Given the description of an element on the screen output the (x, y) to click on. 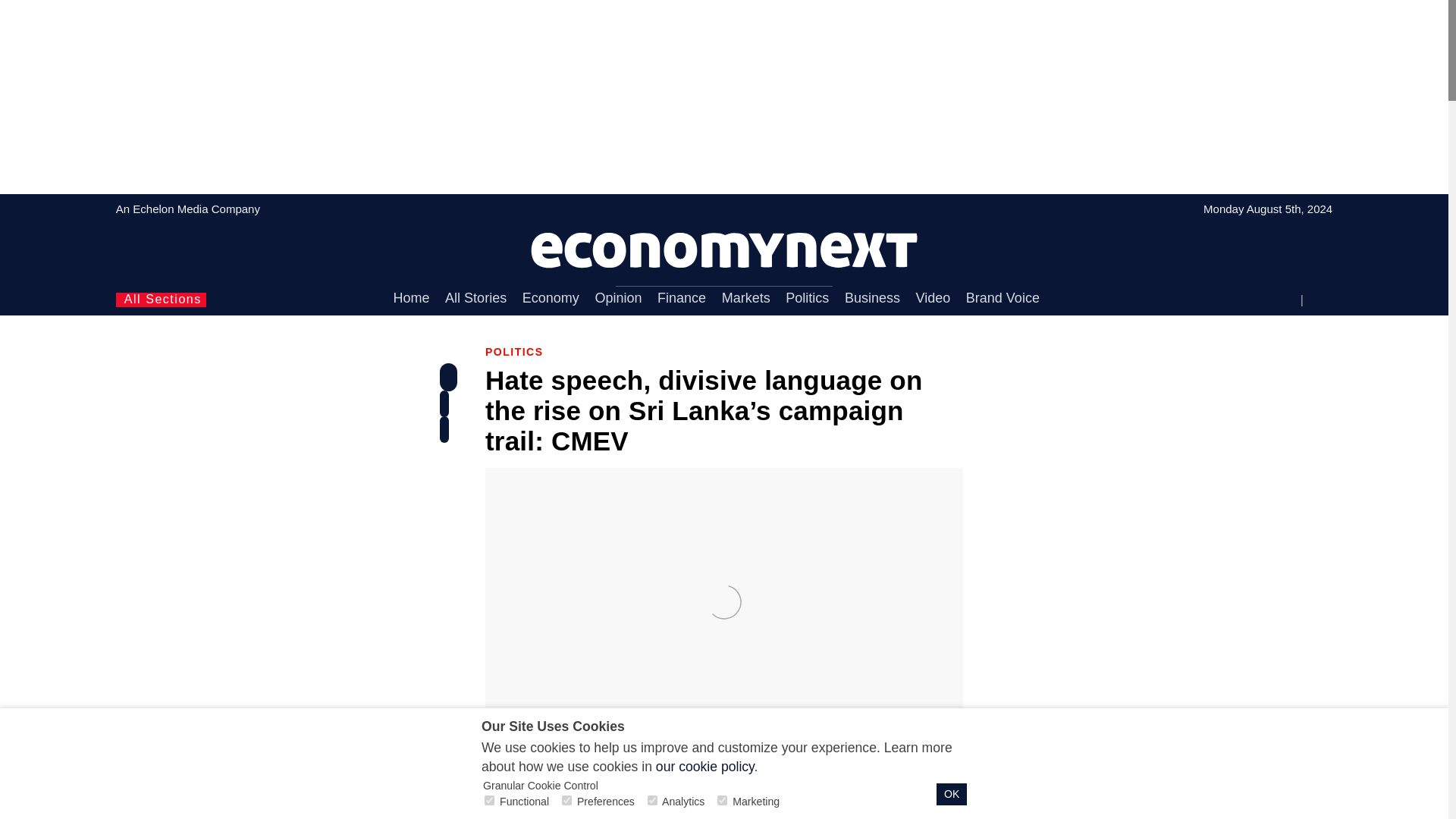
1 (721, 800)
1 (489, 800)
1 (567, 800)
3rd party ad content (1098, 485)
3rd party ad content (1098, 702)
1 (652, 800)
